Given the description of an element on the screen output the (x, y) to click on. 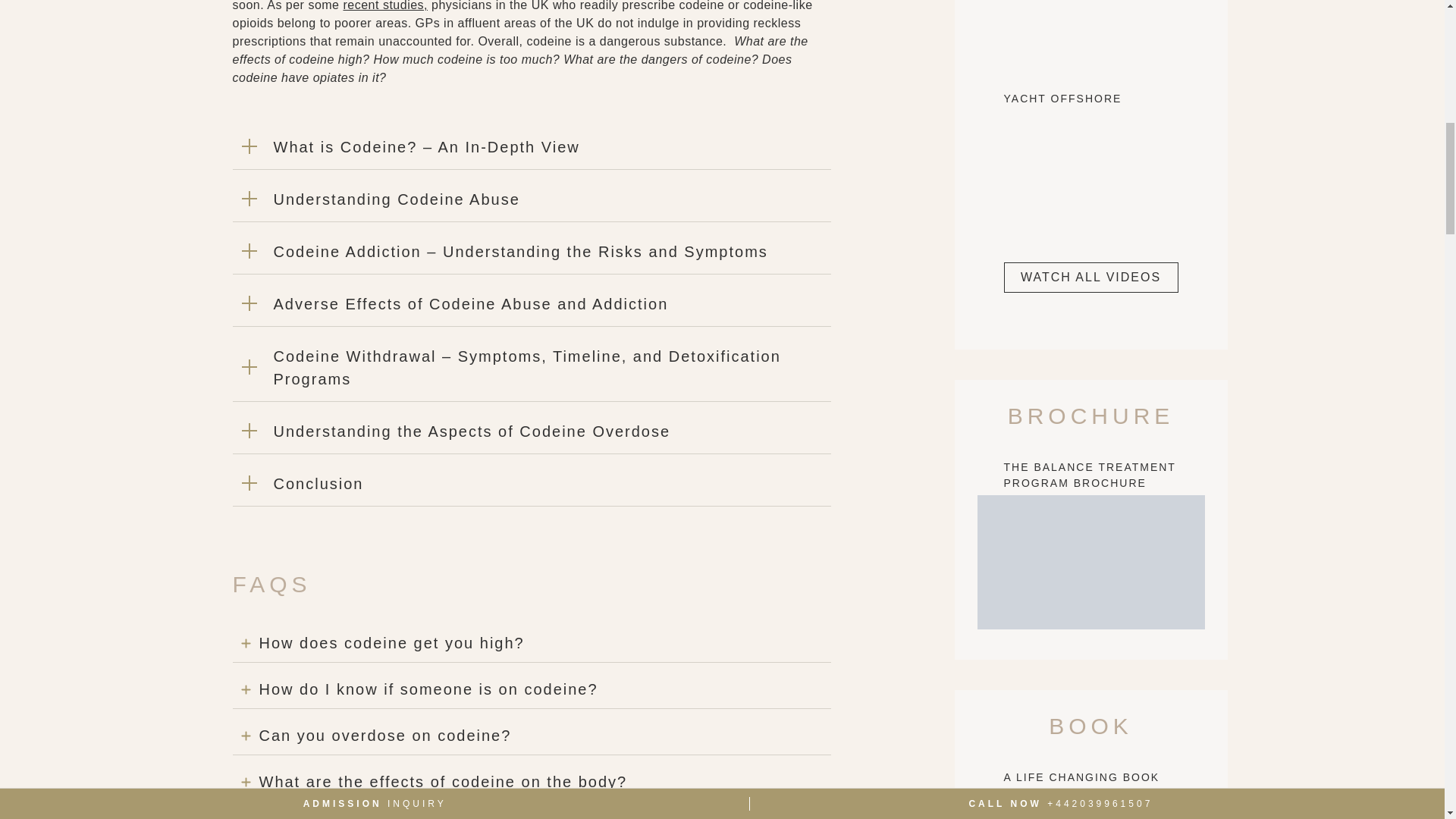
THE BALANCE Luxury Rehab (1090, 32)
THE BALANCE Yacht (1090, 172)
